Given the description of an element on the screen output the (x, y) to click on. 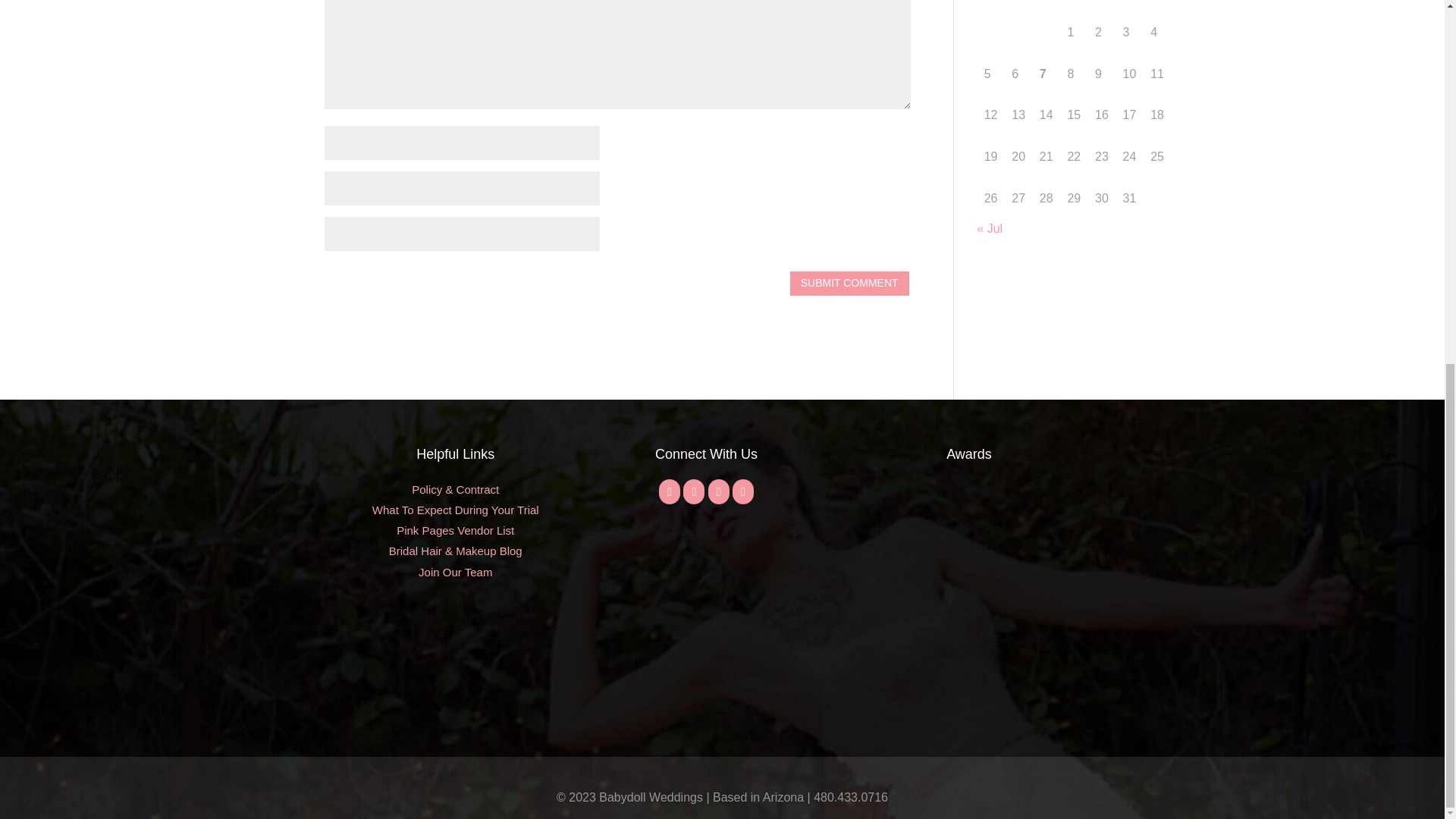
Friday (1101, 6)
Saturday (1128, 6)
Wednesday (1045, 6)
Submit Comment (850, 283)
Thursday (1073, 6)
Tuesday (1018, 6)
Monday (990, 6)
Sunday (1157, 6)
